Given the description of an element on the screen output the (x, y) to click on. 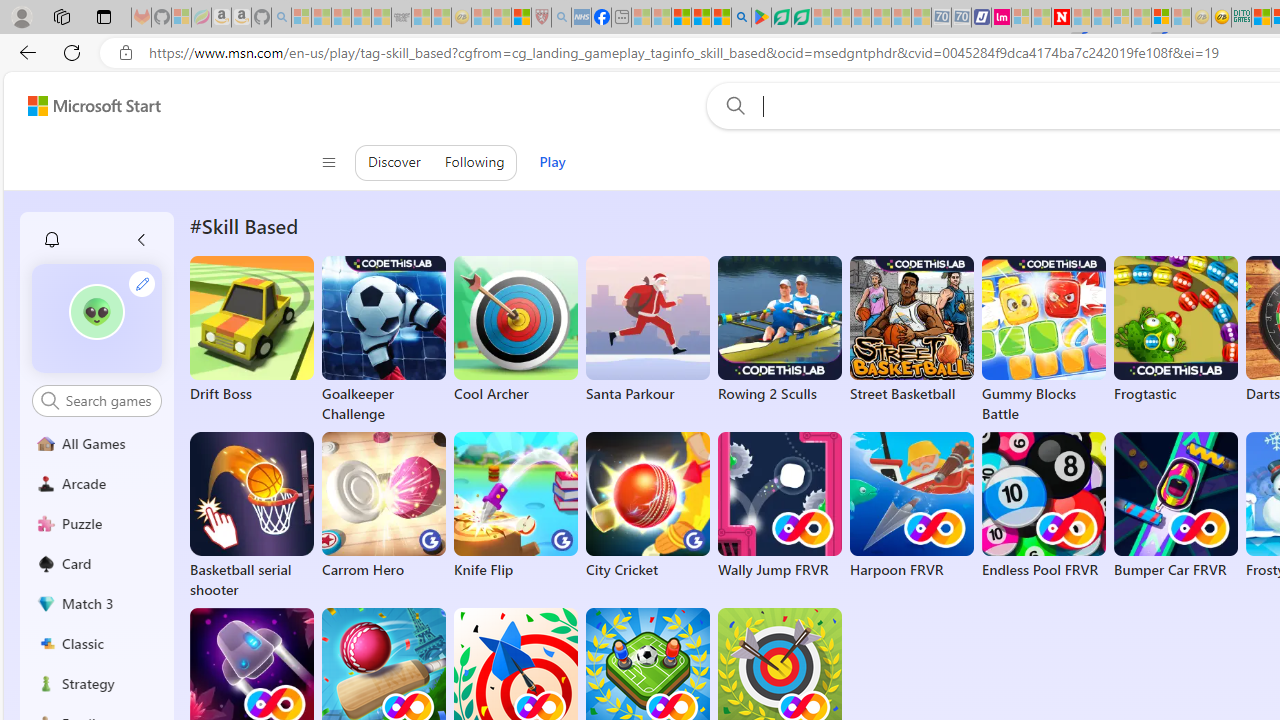
Class: notification-item (51, 239)
Endless Pool FRVR (1043, 506)
Jobs - lastminute.com Investor Portal (1001, 17)
Latest Politics News & Archive | Newsweek.com (1061, 17)
Street Basketball (911, 329)
Basketball serial shooter (251, 515)
""'s avatar (96, 312)
City Cricket (648, 506)
